Given the description of an element on the screen output the (x, y) to click on. 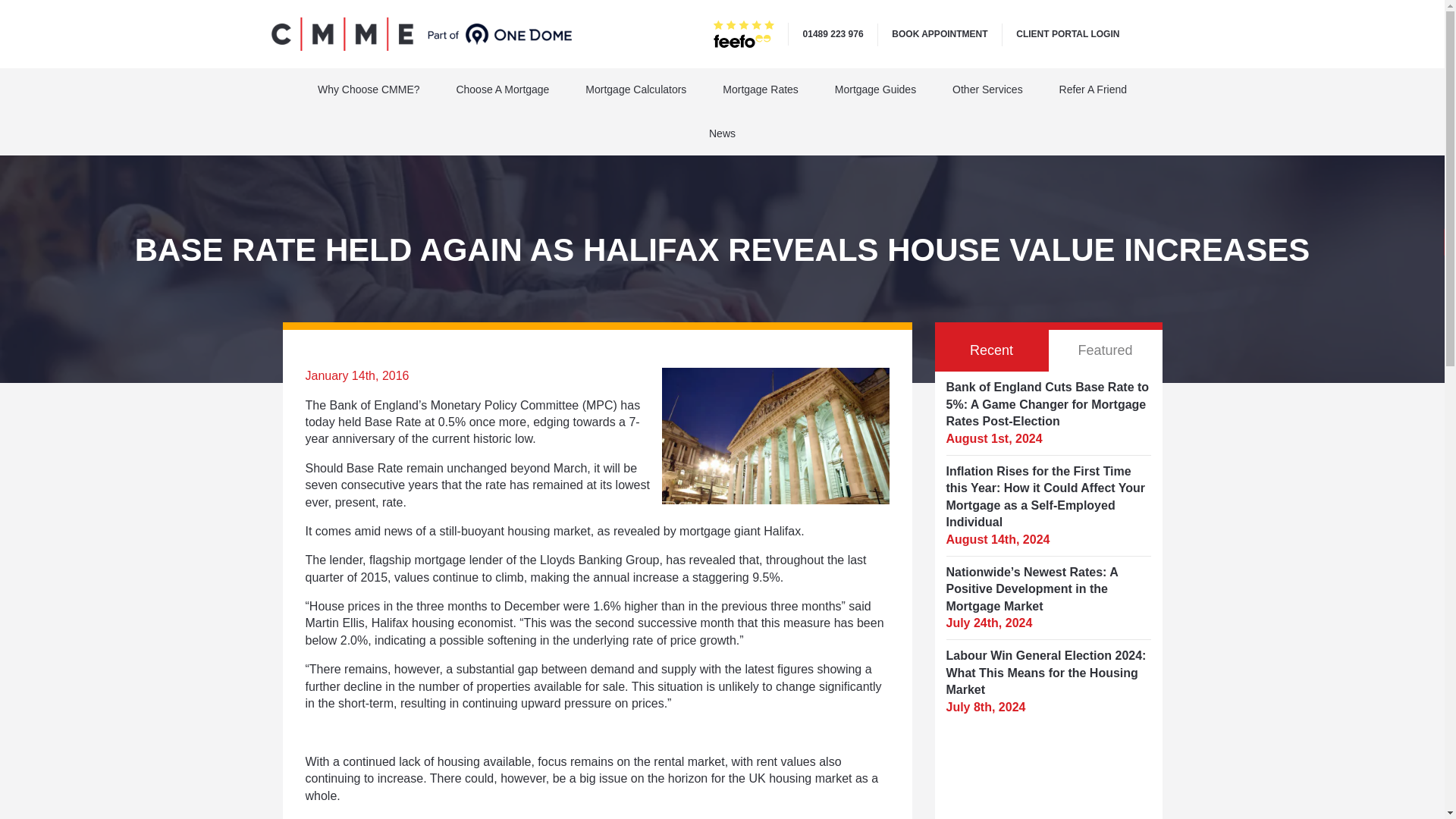
01489 223 976 (833, 33)
CLIENT PORTAL LOGIN (1067, 33)
Why Choose CMME? (368, 89)
Choose A Mortgage (502, 89)
BOOK APPOINTMENT (939, 33)
